Given the description of an element on the screen output the (x, y) to click on. 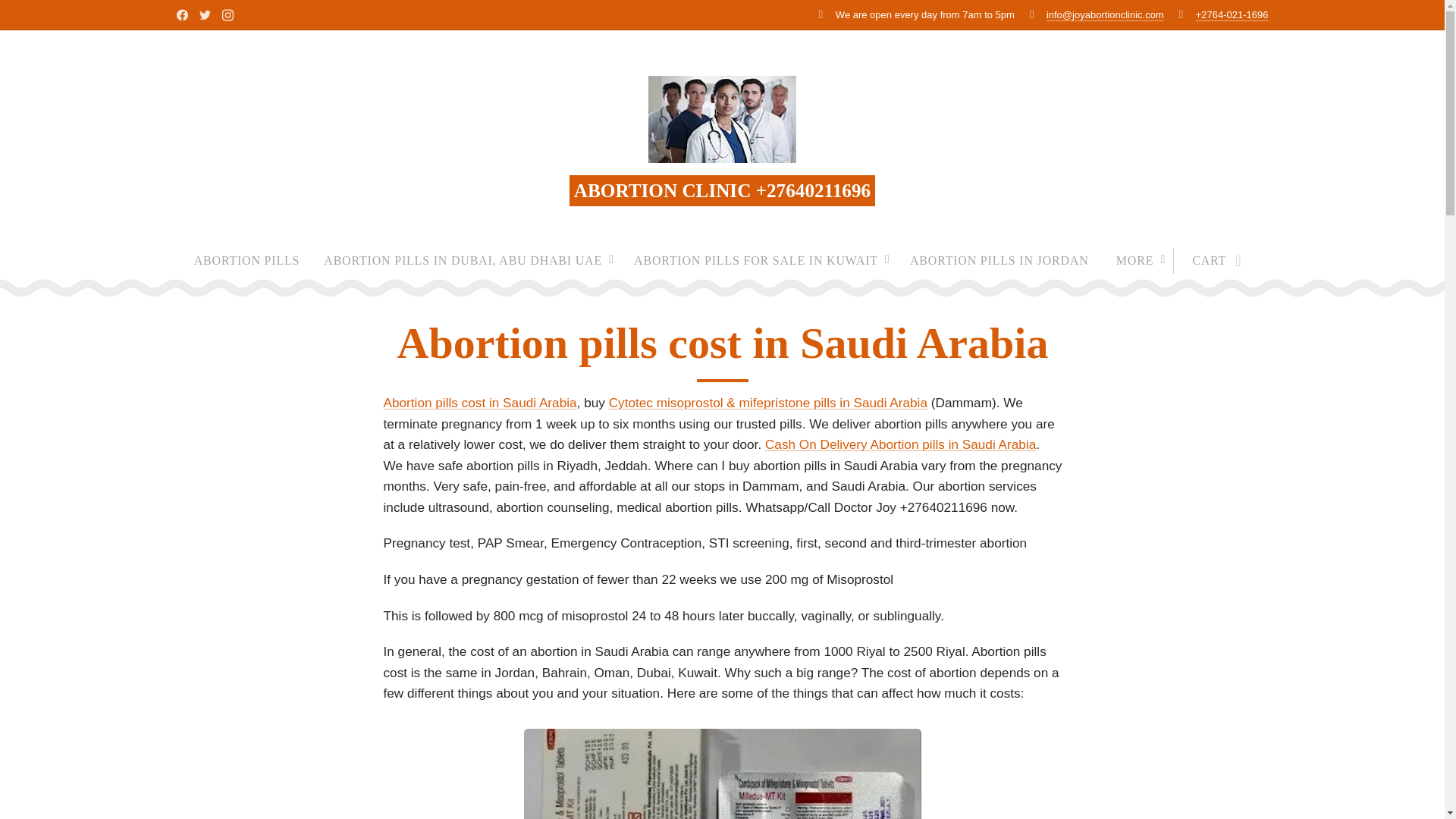
ABORTION PILLS IN DUBAI, ABU DHABI UAE (466, 260)
CART (1211, 260)
ABORTION PILLS IN JORDAN (999, 260)
ABORTION PILLS (253, 260)
MORE (1138, 260)
ABORTION PILLS FOR SALE IN KUWAIT (759, 260)
